Given the description of an element on the screen output the (x, y) to click on. 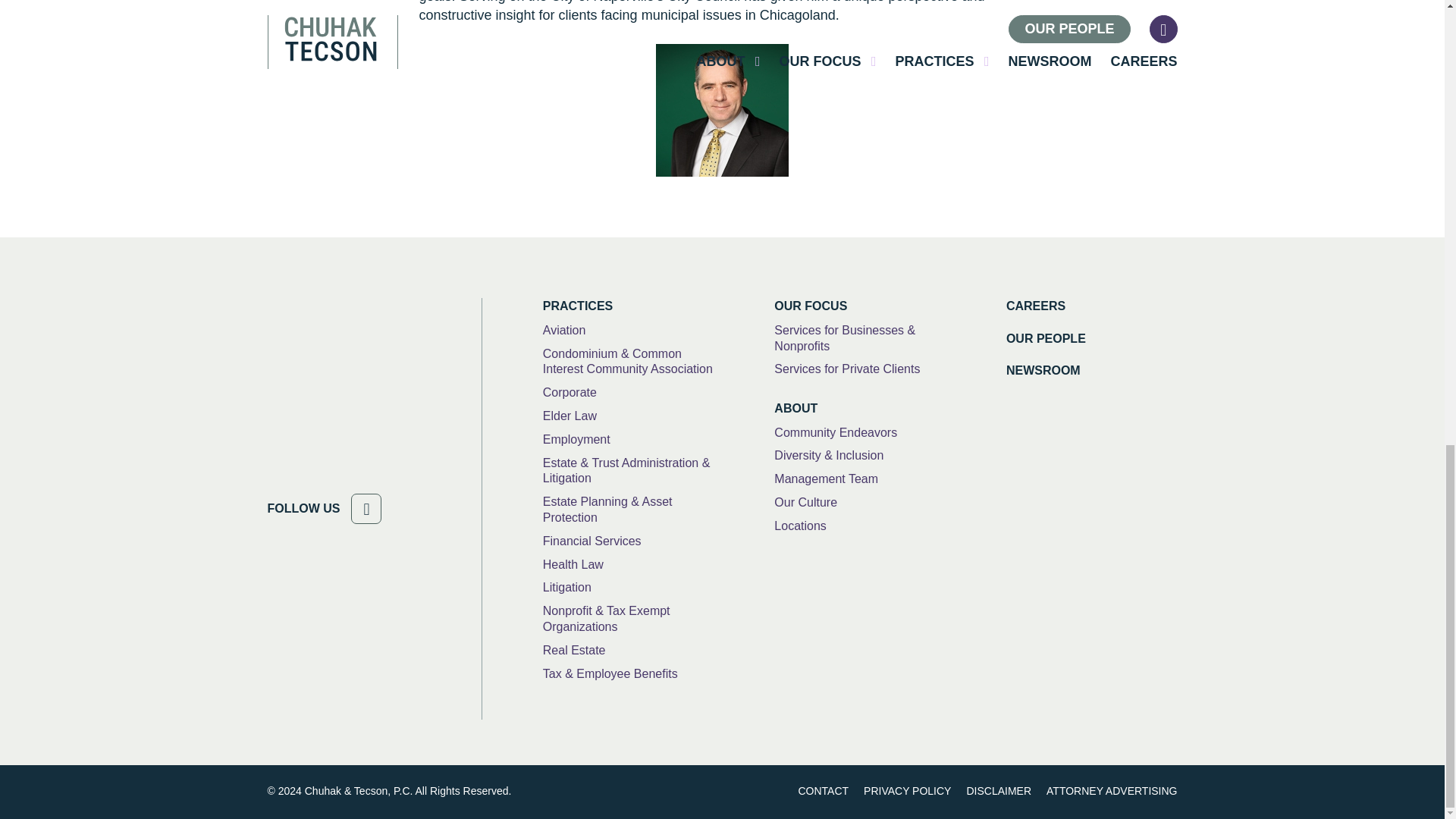
Aviation (564, 330)
PRACTICES (628, 306)
FOLLOW US ON LINKEDIN (365, 508)
